Given the description of an element on the screen output the (x, y) to click on. 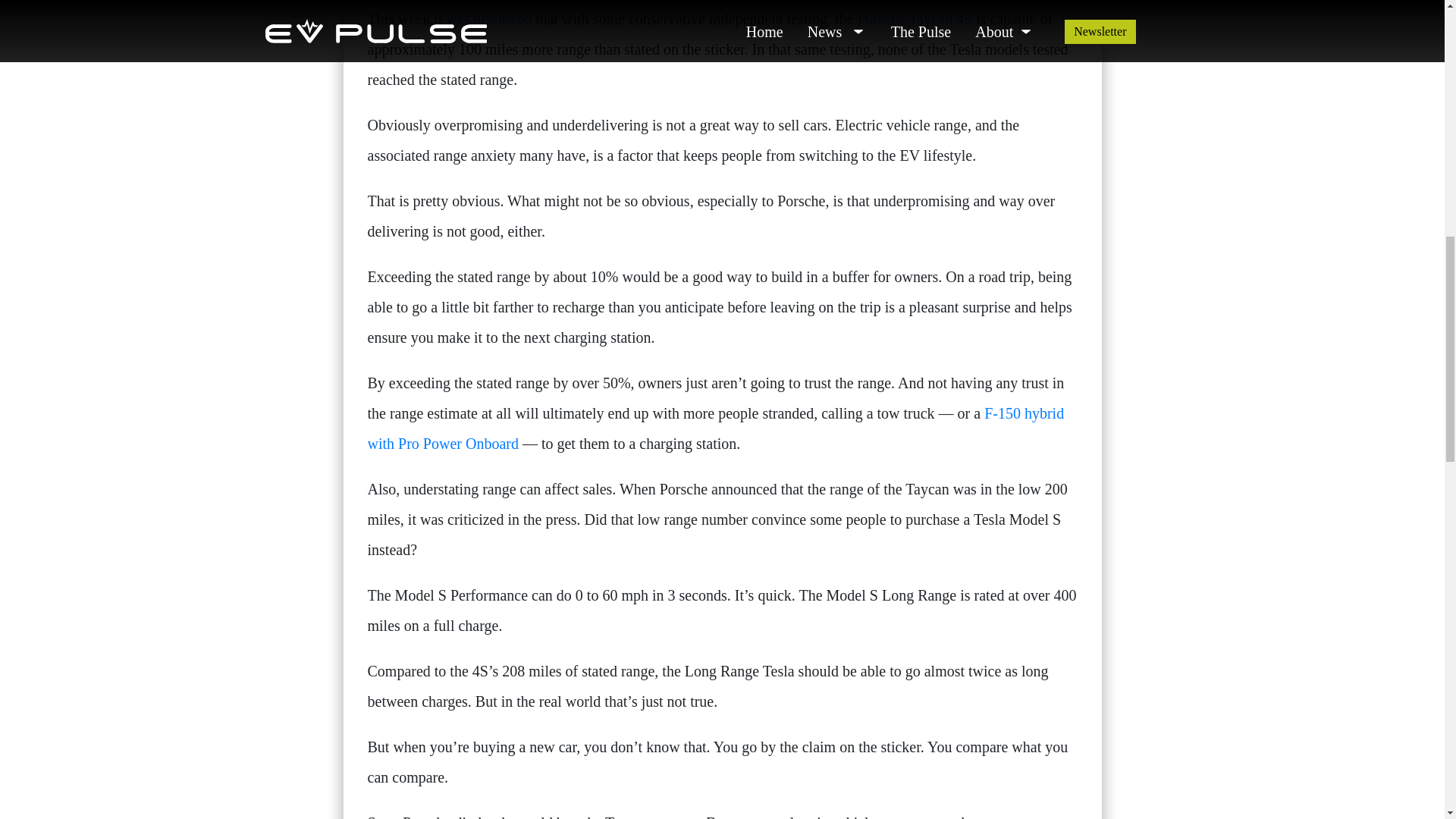
F-150 hybrid with Pro Power Onboard (715, 428)
Porsche Taycan 4S (914, 18)
it was discussed (482, 18)
